Given the description of an element on the screen output the (x, y) to click on. 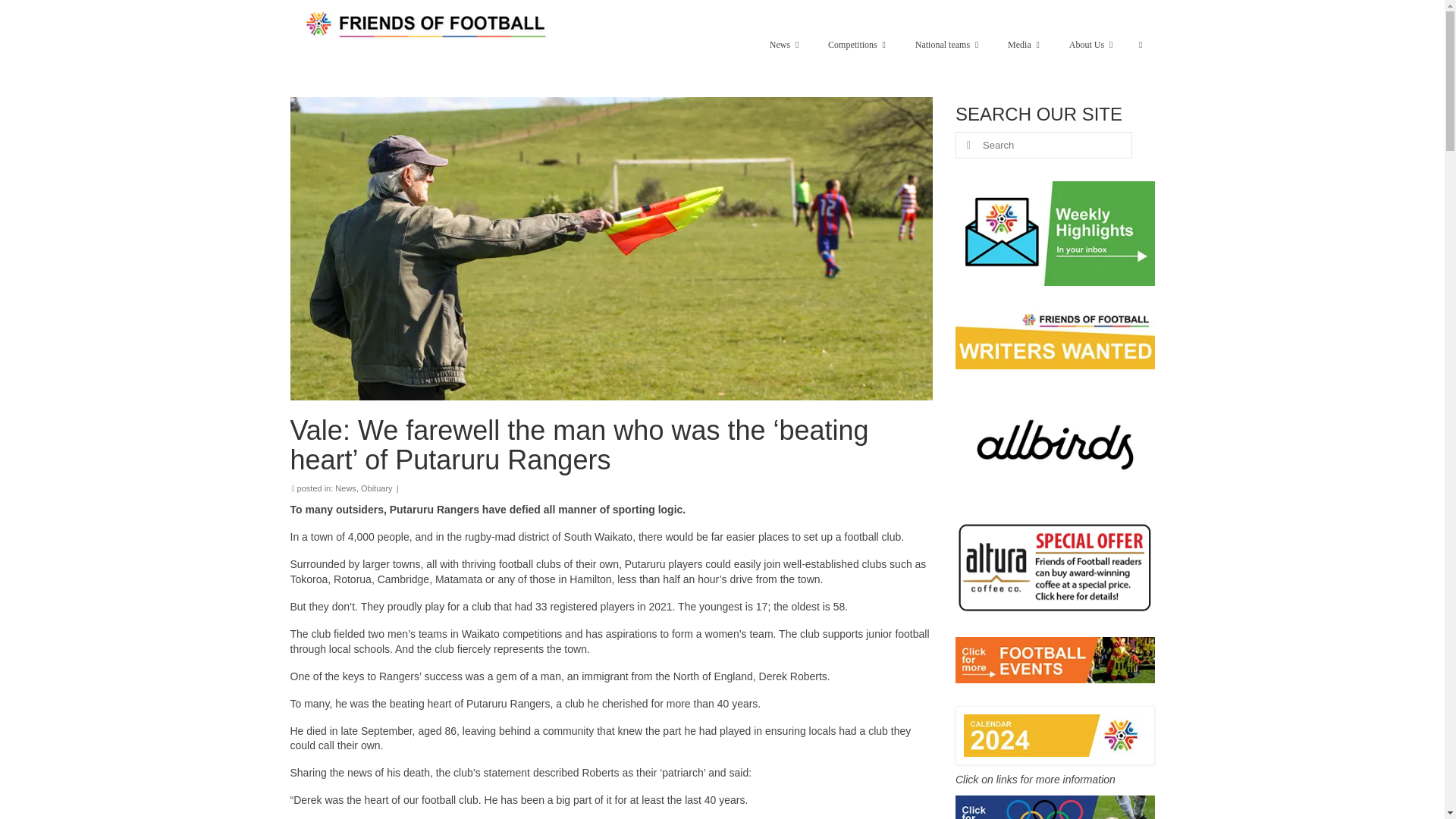
Competitions (855, 44)
Search (1140, 44)
About Us (1090, 44)
News (783, 44)
National teams (945, 44)
Media (1023, 44)
Friends of Football (428, 23)
